Given the description of an element on the screen output the (x, y) to click on. 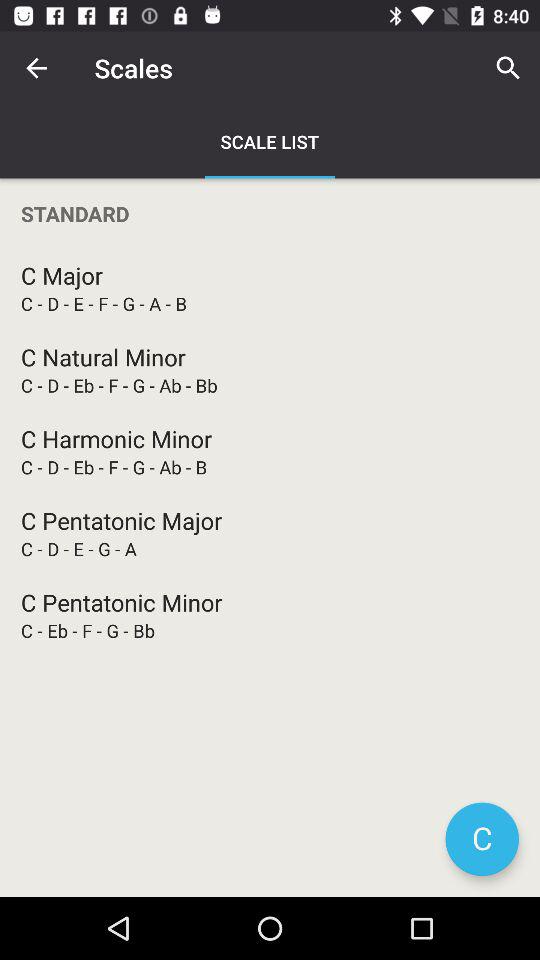
turn off icon next to scales icon (508, 67)
